Given the description of an element on the screen output the (x, y) to click on. 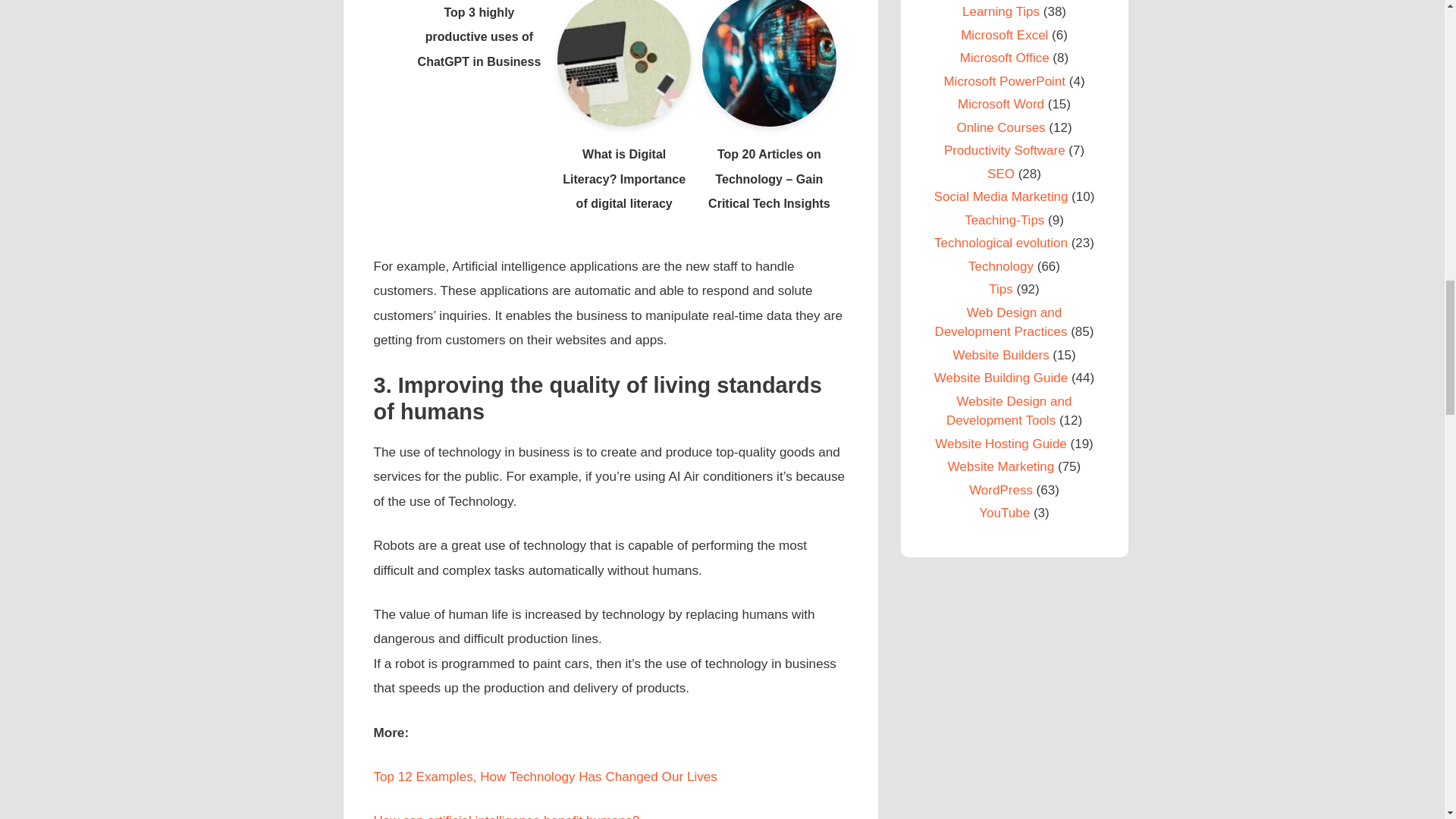
Top 3 highly productive uses of ChatGPT in Business (479, 37)
What is Digital Literacy? Importance of digital literacy (623, 166)
